Given the description of an element on the screen output the (x, y) to click on. 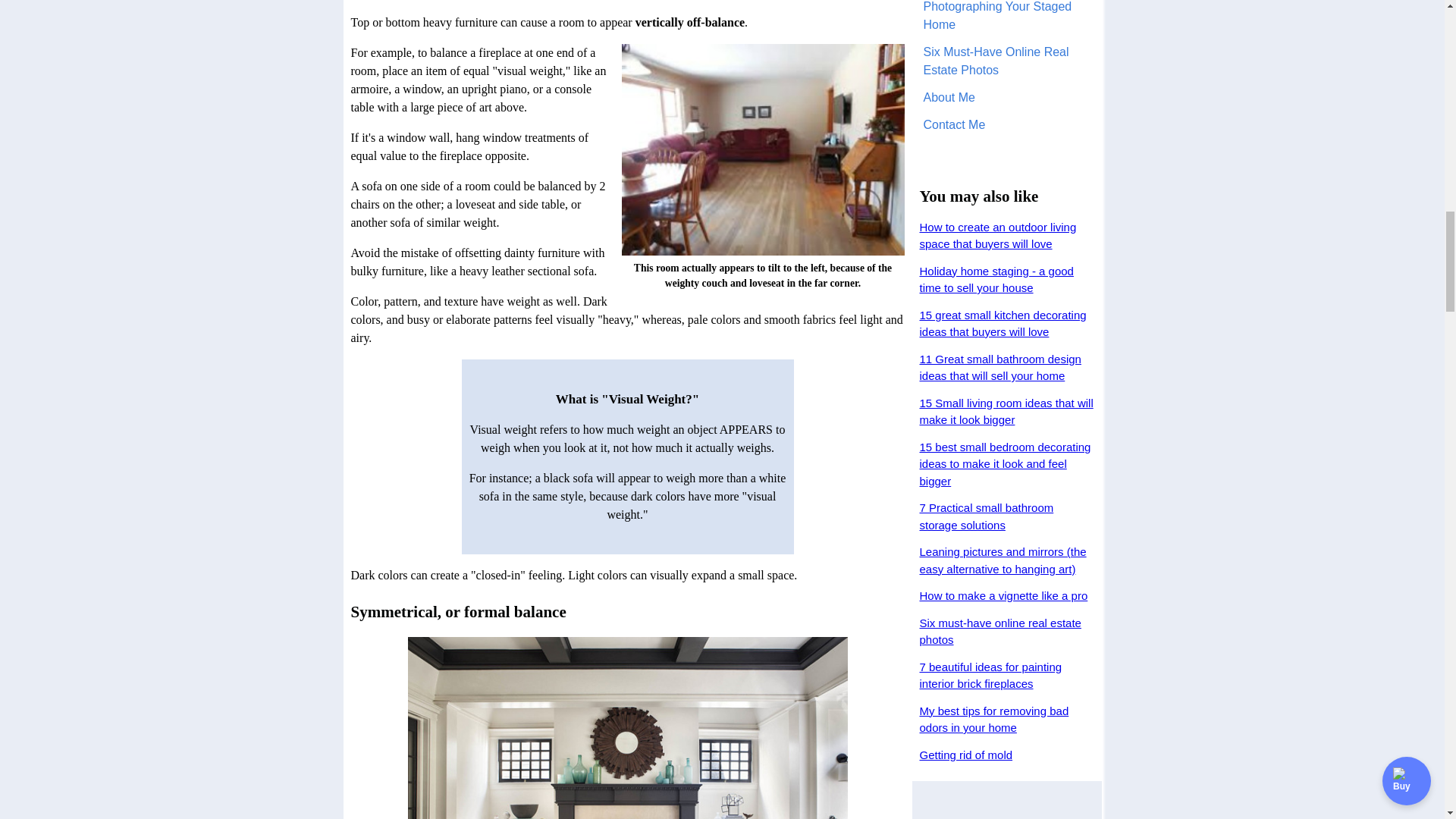
Unbalanced living room arrangement. (762, 149)
Symmetrical living room with a fireplace. (627, 728)
